Given the description of an element on the screen output the (x, y) to click on. 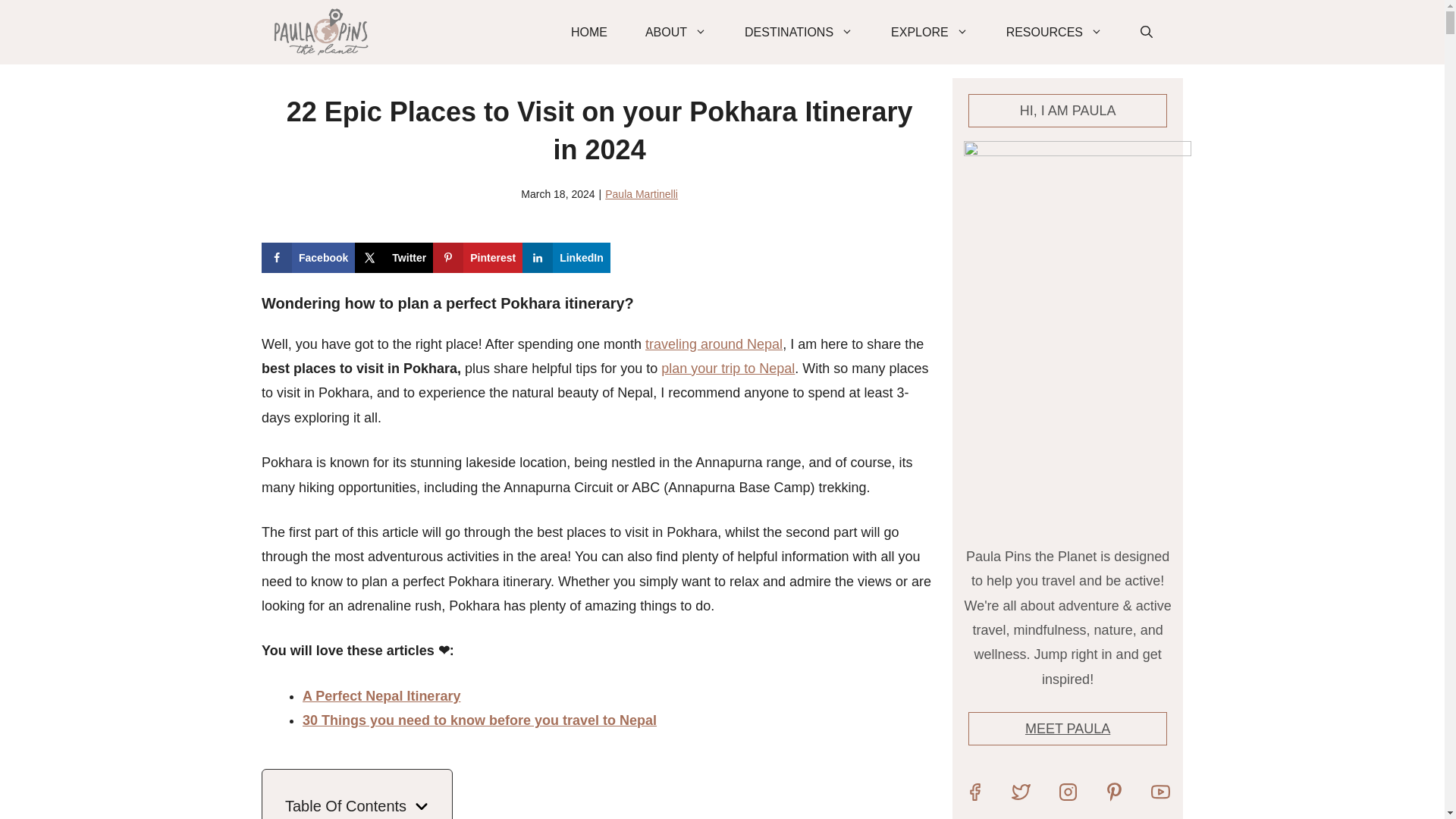
Share on LinkedIn (566, 257)
Share on Facebook (308, 257)
Save to Pinterest (477, 257)
Share on X (393, 257)
Paula Pins The Planet (322, 32)
